Given the description of an element on the screen output the (x, y) to click on. 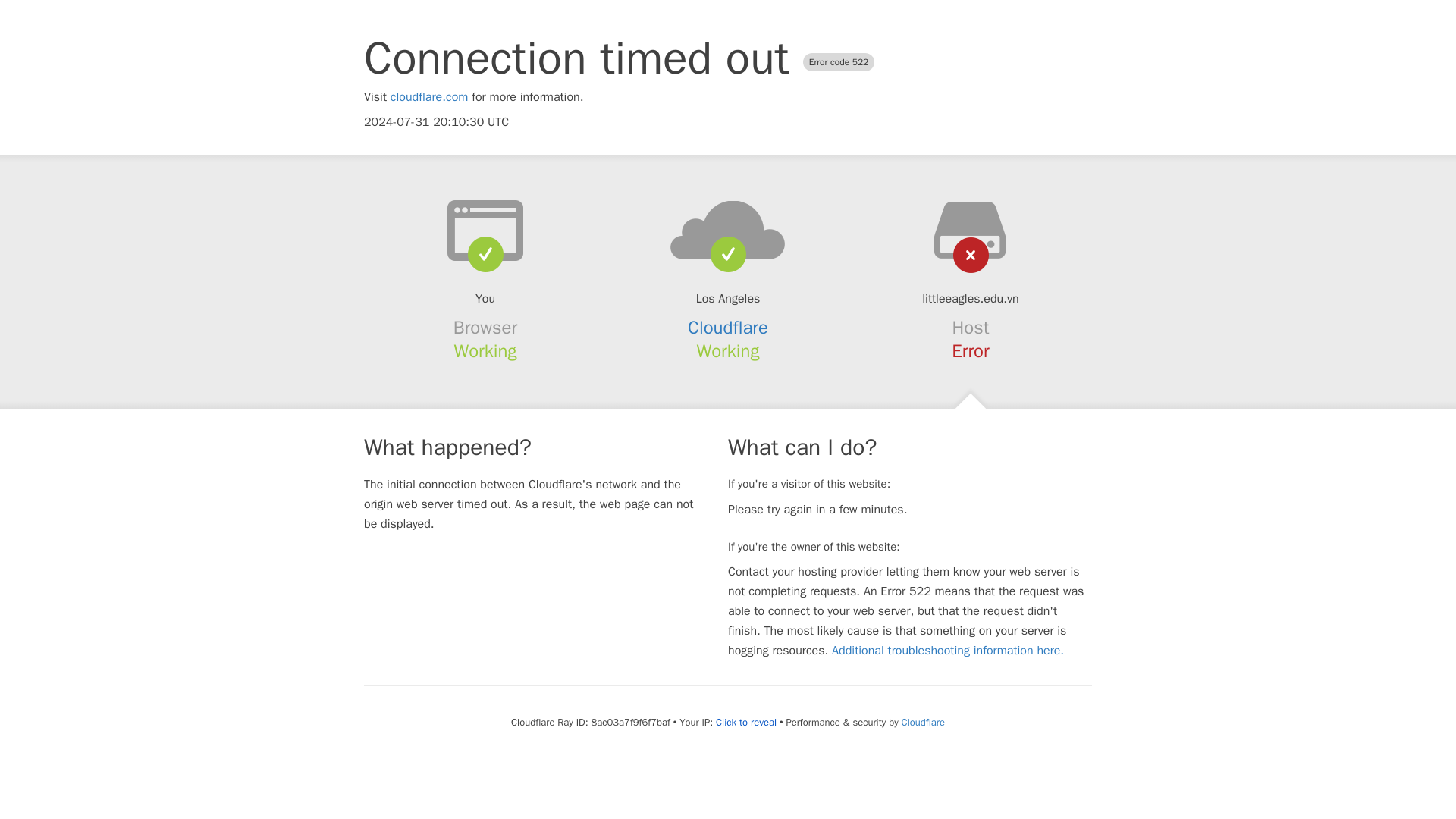
Additional troubleshooting information here. (947, 650)
Cloudflare (922, 721)
cloudflare.com (429, 96)
Click to reveal (746, 722)
Cloudflare (727, 327)
